Given the description of an element on the screen output the (x, y) to click on. 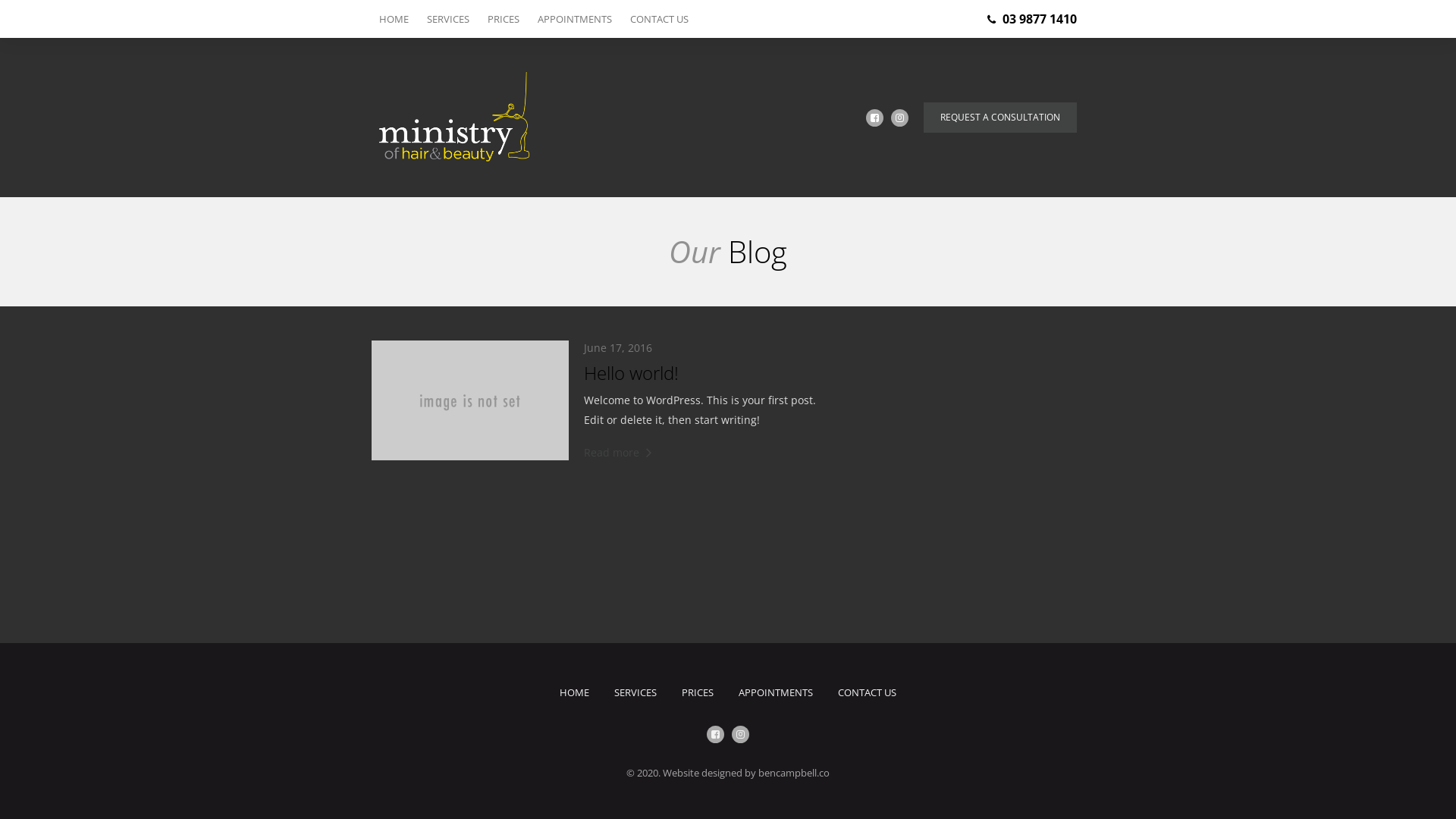
PRICES Element type: text (697, 692)
APPOINTMENTS Element type: text (775, 692)
HOME Element type: text (574, 692)
SERVICES Element type: text (635, 692)
Facebook Element type: hover (874, 117)
Instagram Element type: hover (899, 117)
HOME Element type: text (398, 18)
bencampbell.co Element type: text (793, 772)
Facebook Element type: hover (715, 734)
Hello world! Element type: text (630, 372)
REQUEST A CONSULTATION Element type: text (999, 117)
Read more Element type: text (617, 452)
Instagram Element type: hover (740, 734)
PRICES Element type: text (503, 18)
APPOINTMENTS Element type: text (574, 18)
CONTACT US Element type: text (654, 18)
SERVICES Element type: text (447, 18)
CONTACT US Element type: text (866, 692)
